Given the description of an element on the screen output the (x, y) to click on. 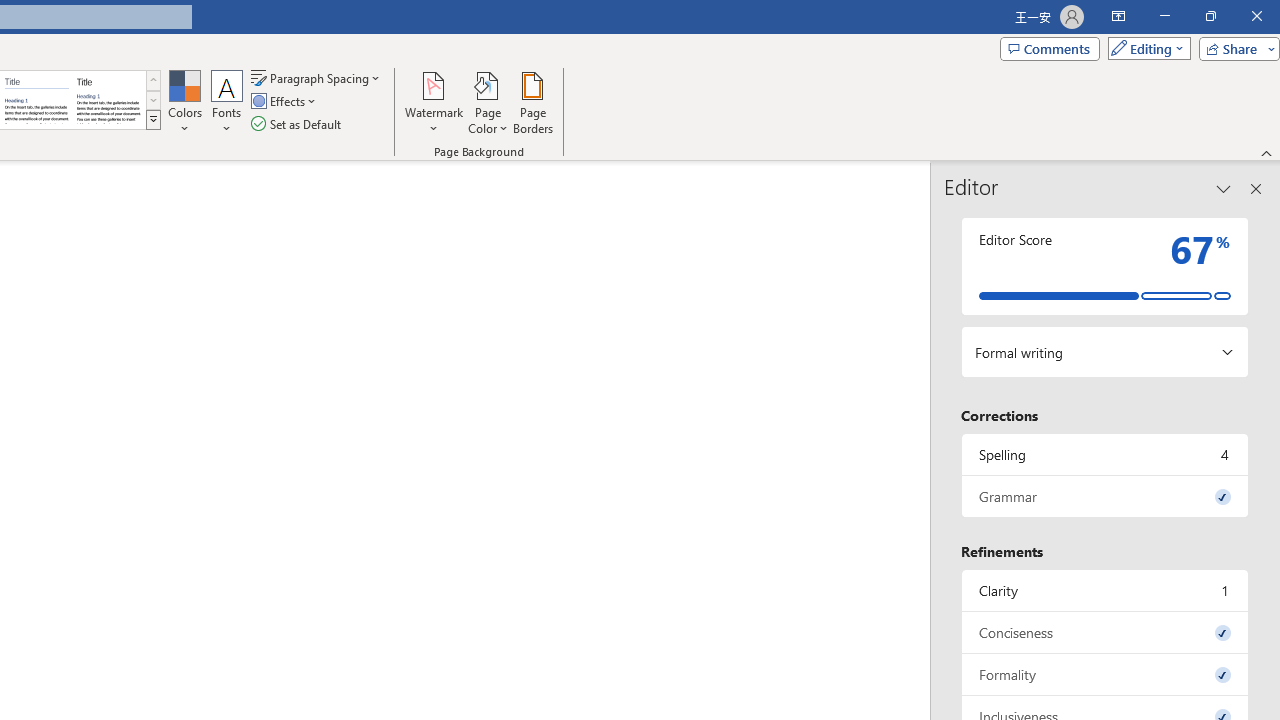
Style Set (153, 120)
Word 2013 (108, 100)
Colors (184, 102)
Word 2010 (36, 100)
Editor Score 67% (1105, 266)
Conciseness, 0 issues. Press space or enter to review items. (1105, 632)
Set as Default (298, 124)
Paragraph Spacing (317, 78)
